Given the description of an element on the screen output the (x, y) to click on. 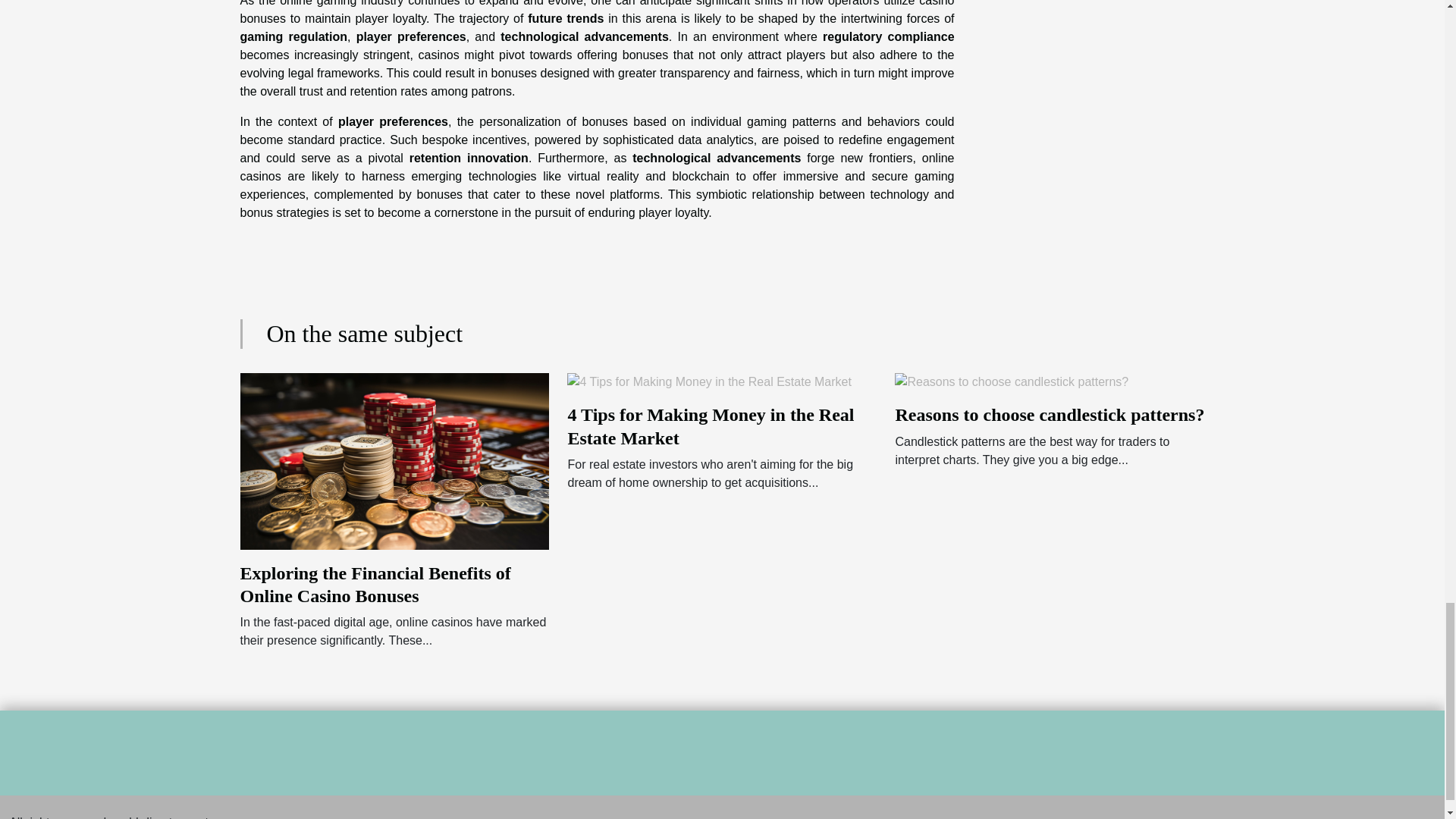
4 Tips for Making Money in the Real Estate Market (708, 381)
Reasons to choose candlestick patterns? (1049, 414)
4 Tips for Making Money in the Real Estate Market (710, 425)
Exploring the Financial Benefits of Online Casino Bonuses (375, 584)
Exploring the Financial Benefits of Online Casino Bonuses (375, 584)
4 Tips for Making Money in the Real Estate Market (710, 425)
Reasons to choose candlestick patterns? (1011, 381)
Reasons to choose candlestick patterns? (1049, 414)
Exploring the Financial Benefits of Online Casino Bonuses (394, 459)
